Given the description of an element on the screen output the (x, y) to click on. 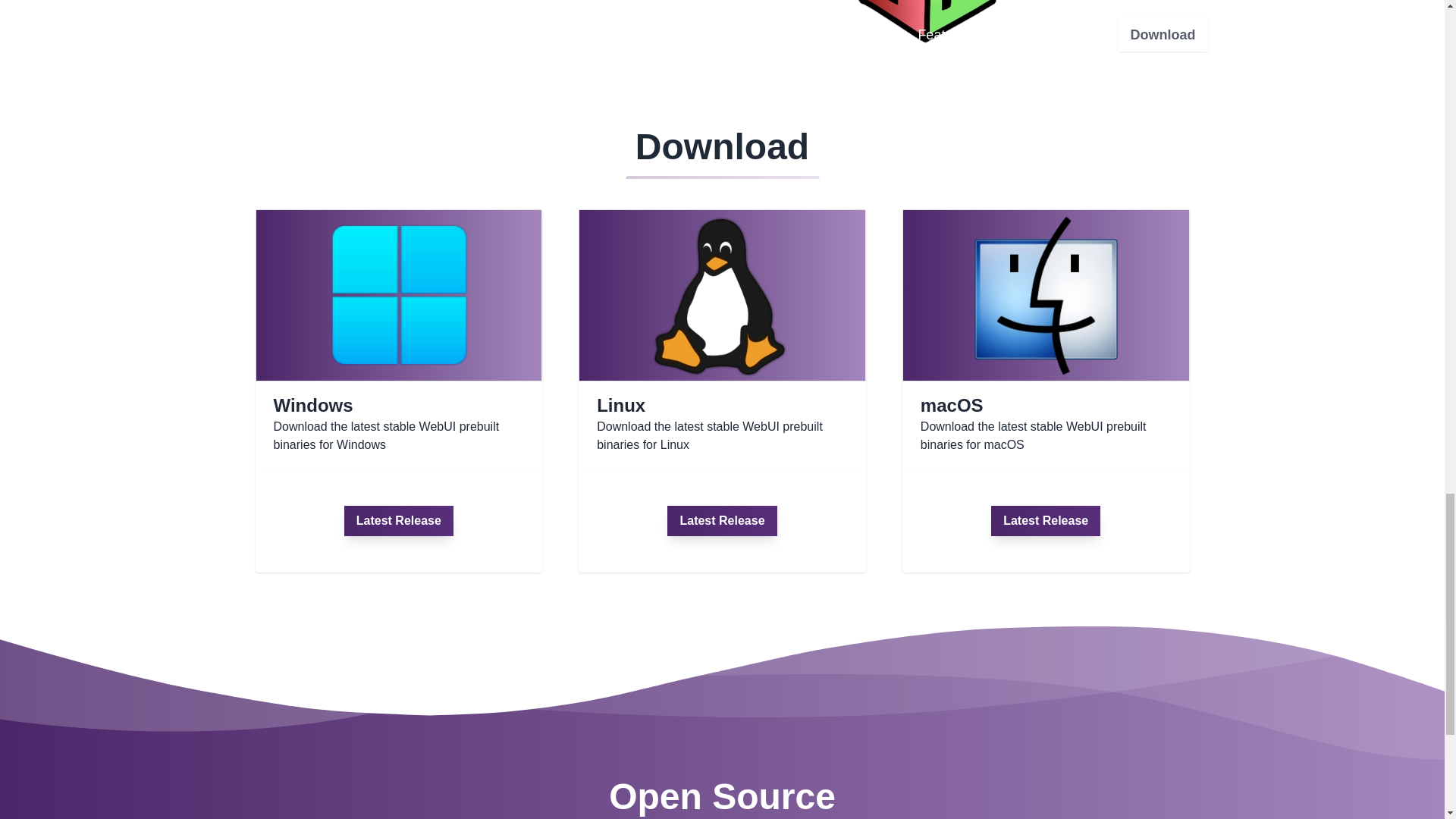
Latest Release (1045, 521)
Latest Release (721, 521)
Latest Release (397, 521)
